Given the description of an element on the screen output the (x, y) to click on. 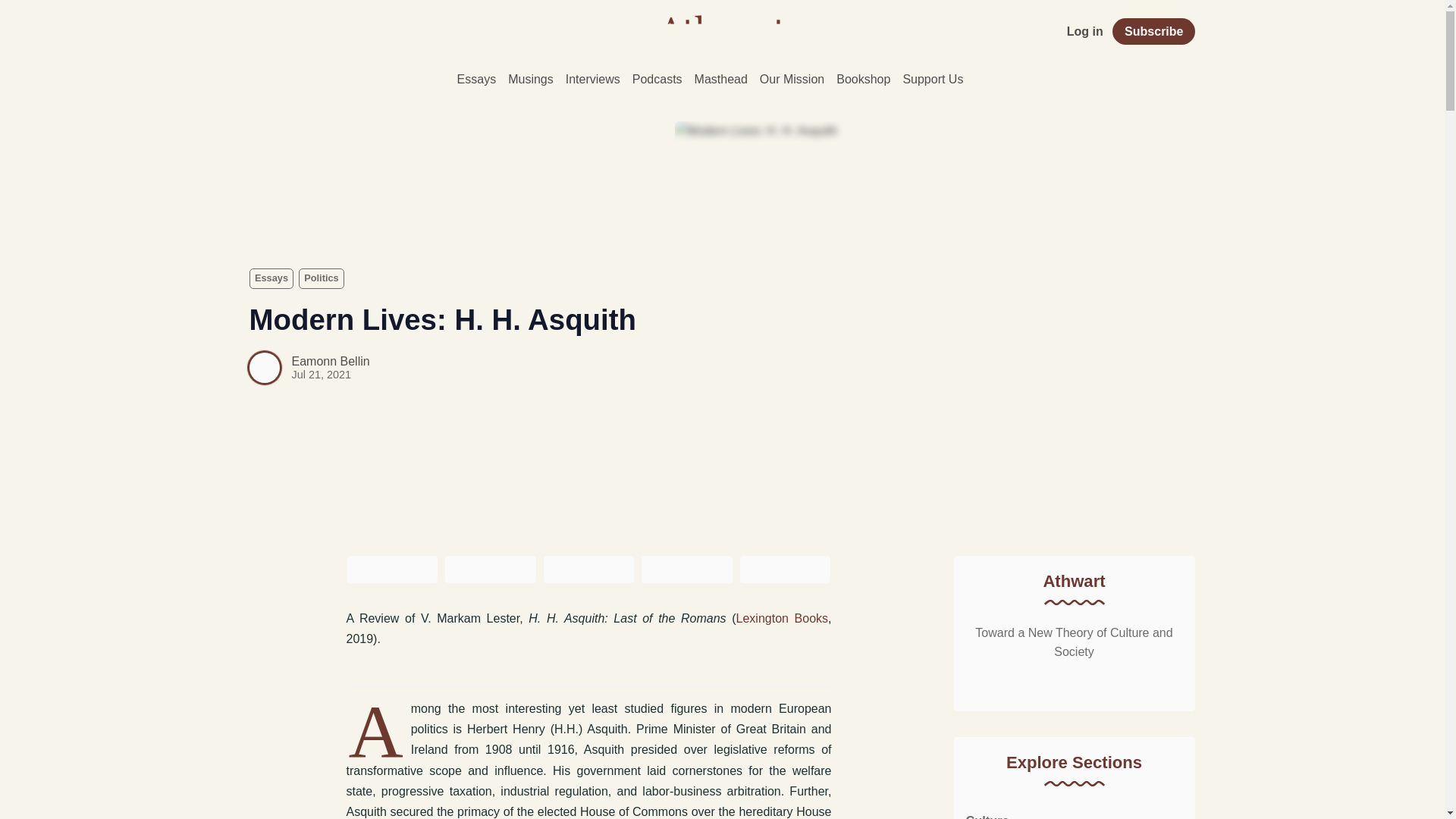
Our Mission (792, 78)
More (980, 79)
Share on Linkedin (588, 569)
Eamonn Bellin (330, 360)
Bookshop (862, 78)
Subscribe (1153, 31)
Essays (271, 278)
Share on Facebook (490, 569)
Musings (530, 78)
Copy to clipboard (785, 569)
